Given the description of an element on the screen output the (x, y) to click on. 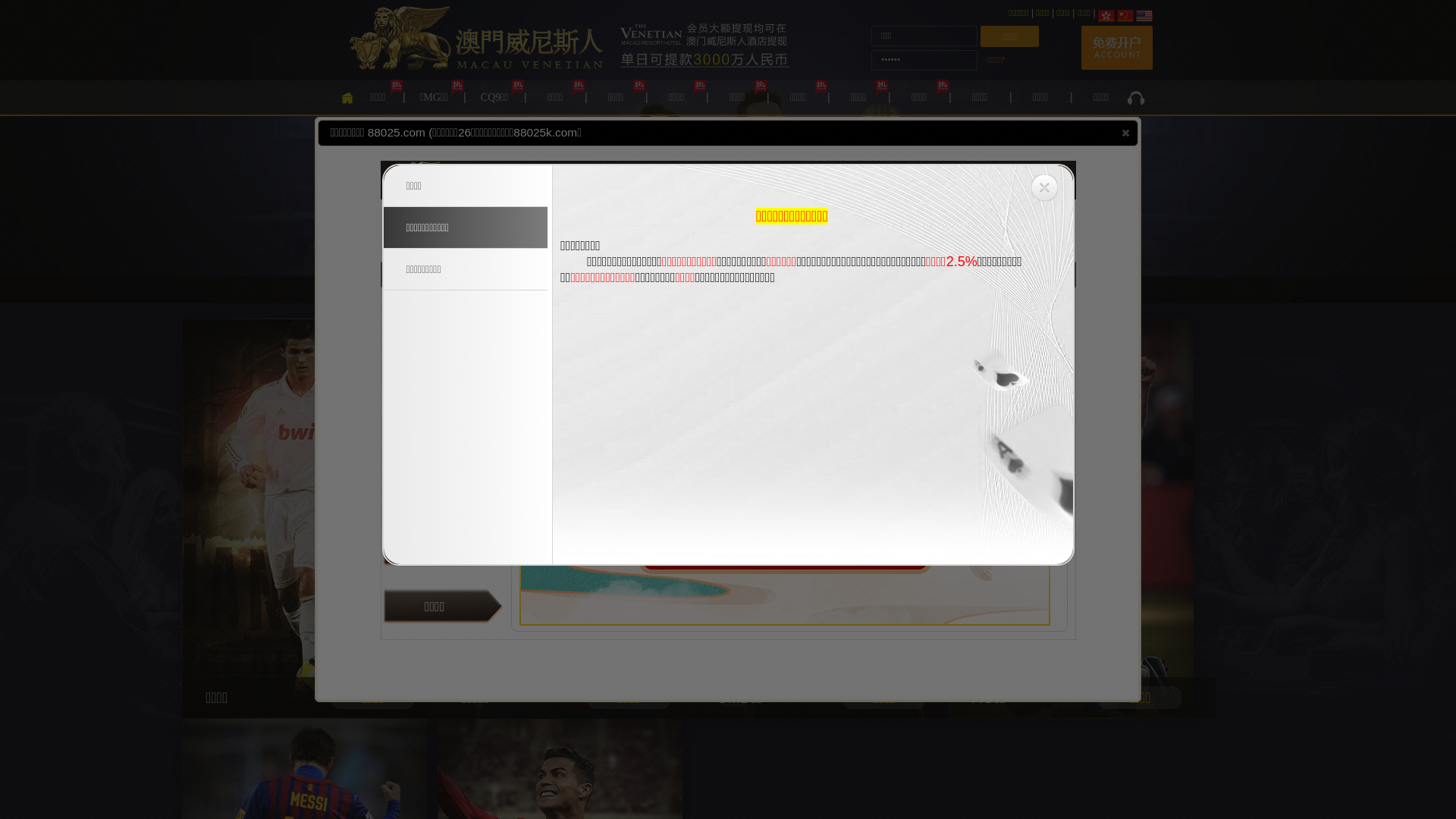
close Element type: text (1125, 132)
